Given the description of an element on the screen output the (x, y) to click on. 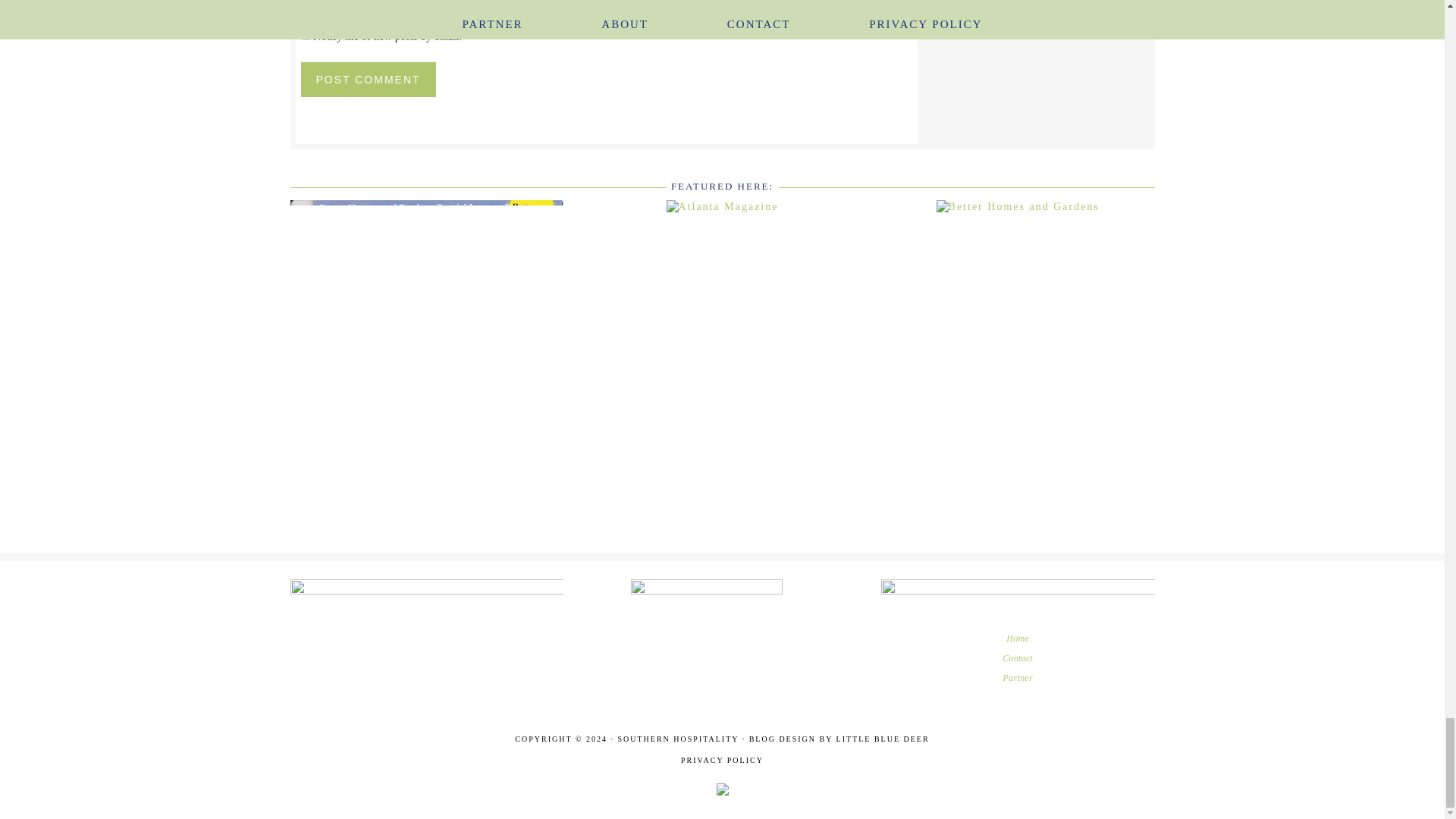
subscribe (304, 35)
Post Comment (367, 79)
